Given the description of an element on the screen output the (x, y) to click on. 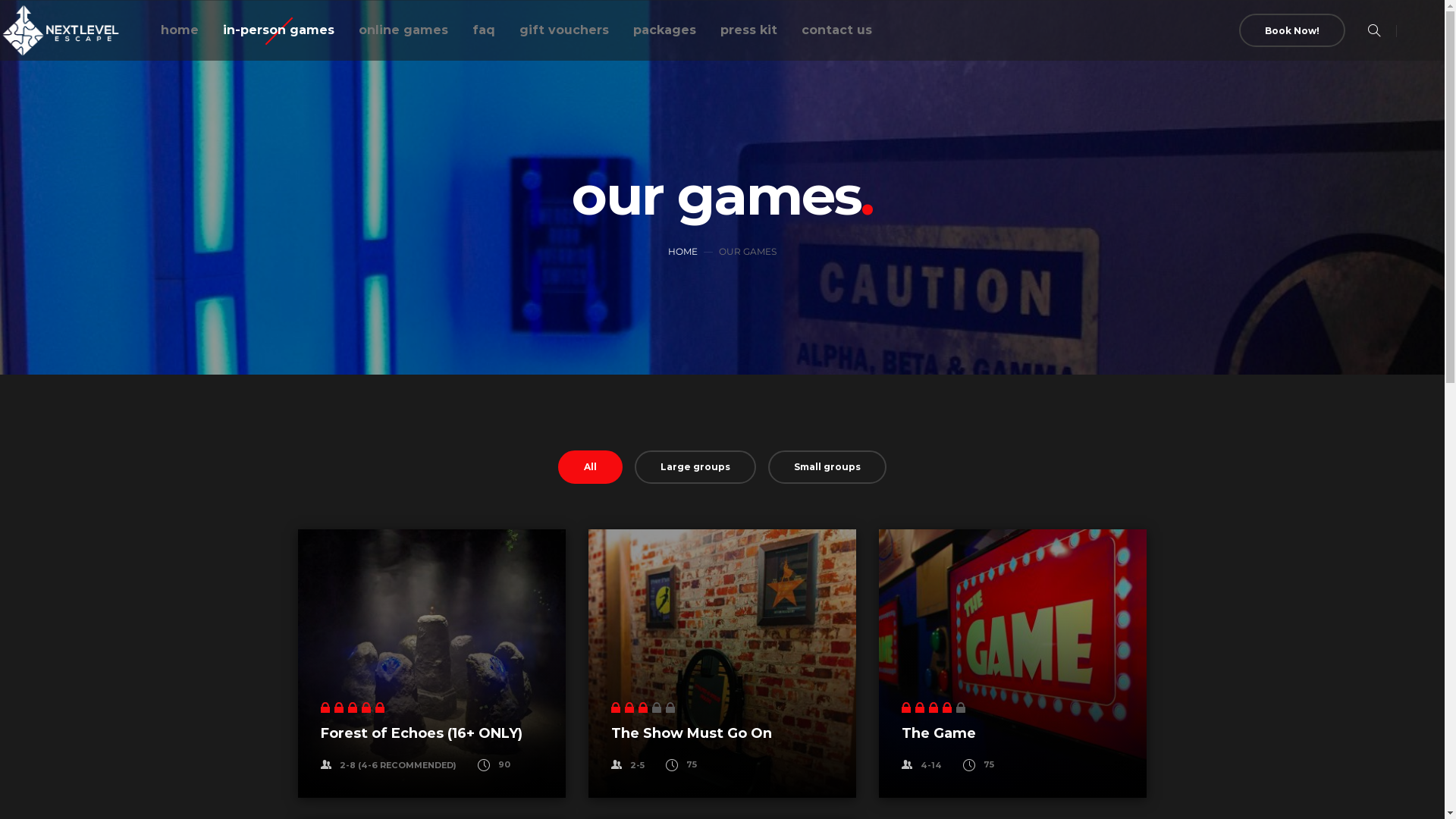
contact us Element type: text (836, 30)
faq Element type: text (483, 30)
The Show Must Go On Element type: text (691, 732)
home Element type: text (179, 30)
press kit Element type: text (748, 30)
Forest of Echoes (16+ ONLY) Element type: text (420, 732)
Small groups Element type: text (827, 467)
Book Now! Element type: text (1292, 30)
gift vouchers Element type: text (564, 30)
Large groups Element type: text (695, 467)
The Game Element type: text (937, 732)
packages Element type: text (664, 30)
All Element type: text (590, 467)
in-person games Element type: text (278, 30)
online games Element type: text (403, 30)
HOME Element type: text (682, 251)
